Given the description of an element on the screen output the (x, y) to click on. 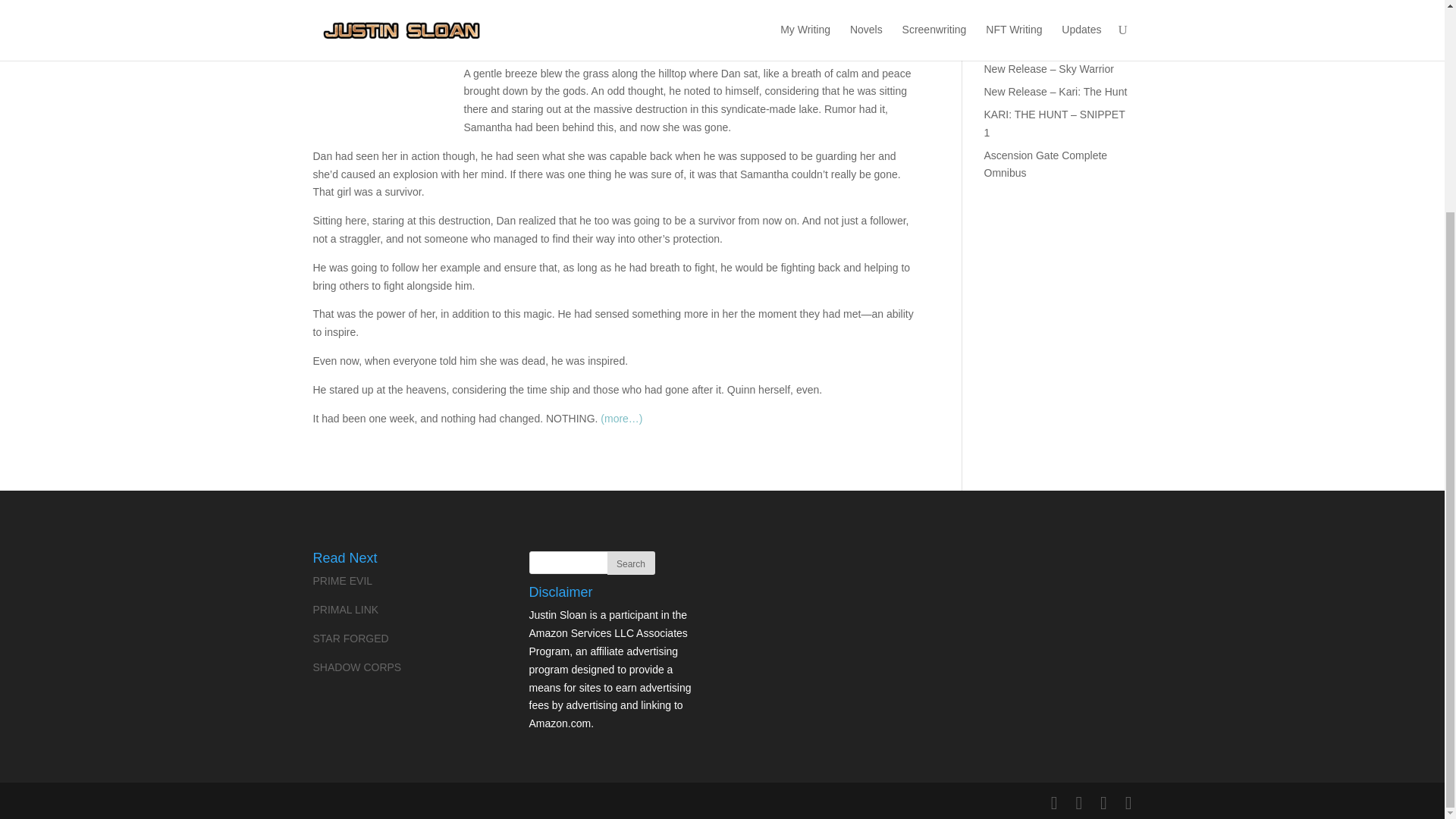
Ascension Gate Complete Omnibus (1046, 164)
STAR FORGED (350, 638)
Austin Film Festival 2022 (1043, 46)
PRIME EVIL (342, 580)
Search (630, 562)
Search (630, 562)
PRIMAL LINK (345, 609)
SHADOW CORPS (357, 666)
